Given the description of an element on the screen output the (x, y) to click on. 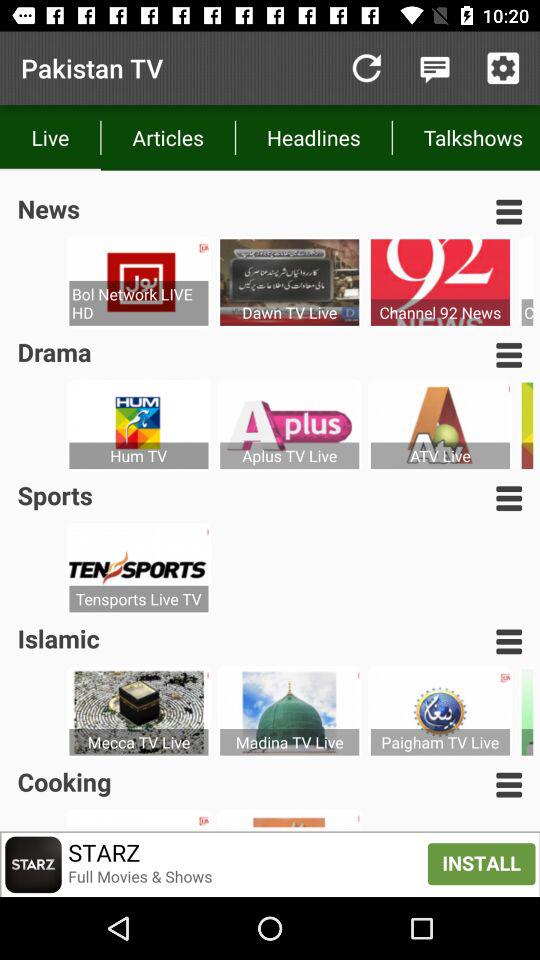
select the headlines icon (313, 137)
